Given the description of an element on the screen output the (x, y) to click on. 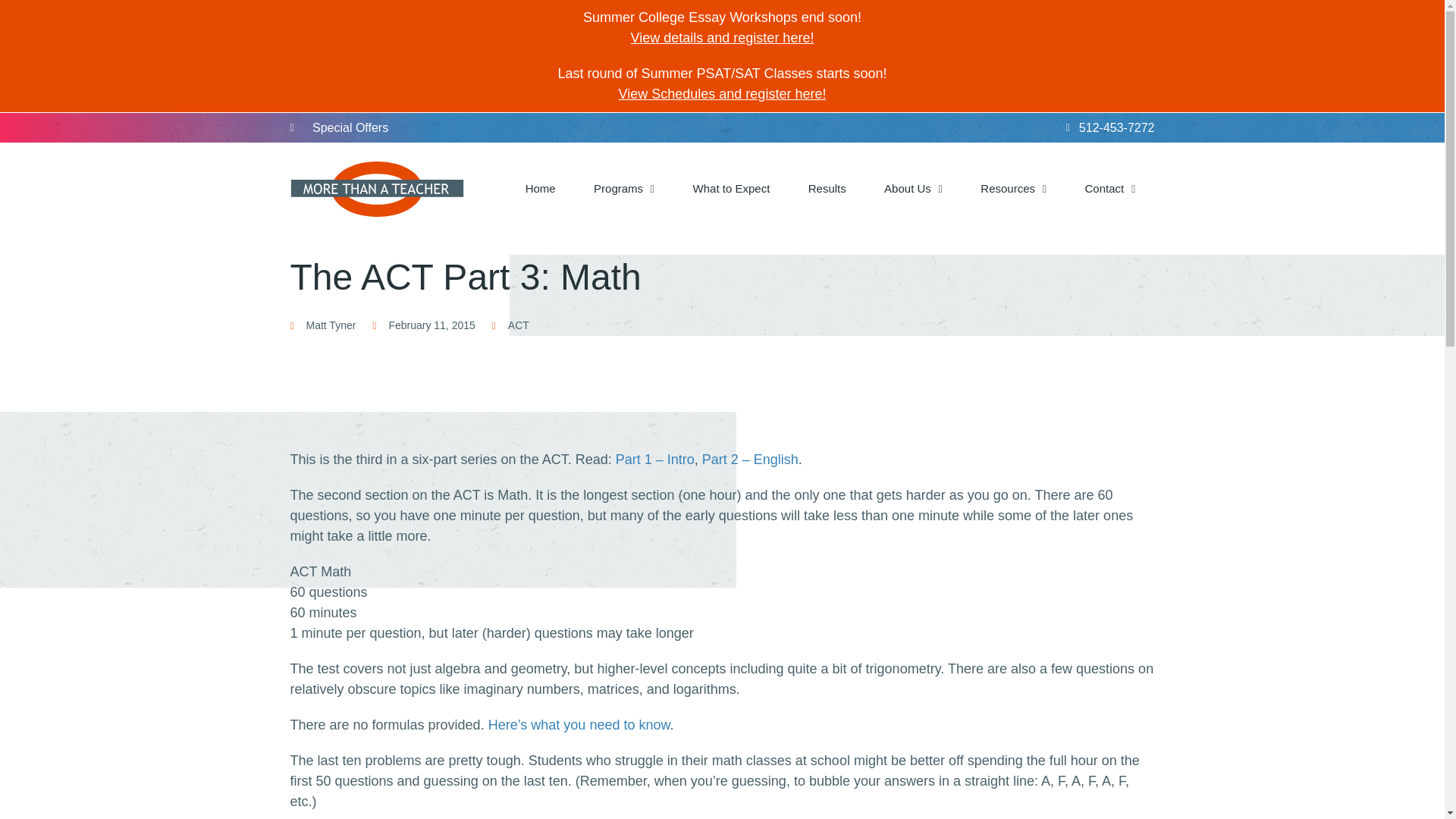
View Schedules and register here! (722, 93)
The ACT Part 2: English (749, 459)
The ACT Part 1: Intro (654, 459)
Programs (624, 189)
Resources (1012, 189)
About Us (912, 189)
What to Expect (730, 189)
512-453-7272 (938, 127)
Home (540, 189)
Results (826, 189)
Special Offers (505, 127)
View details and register here! (721, 37)
